Given the description of an element on the screen output the (x, y) to click on. 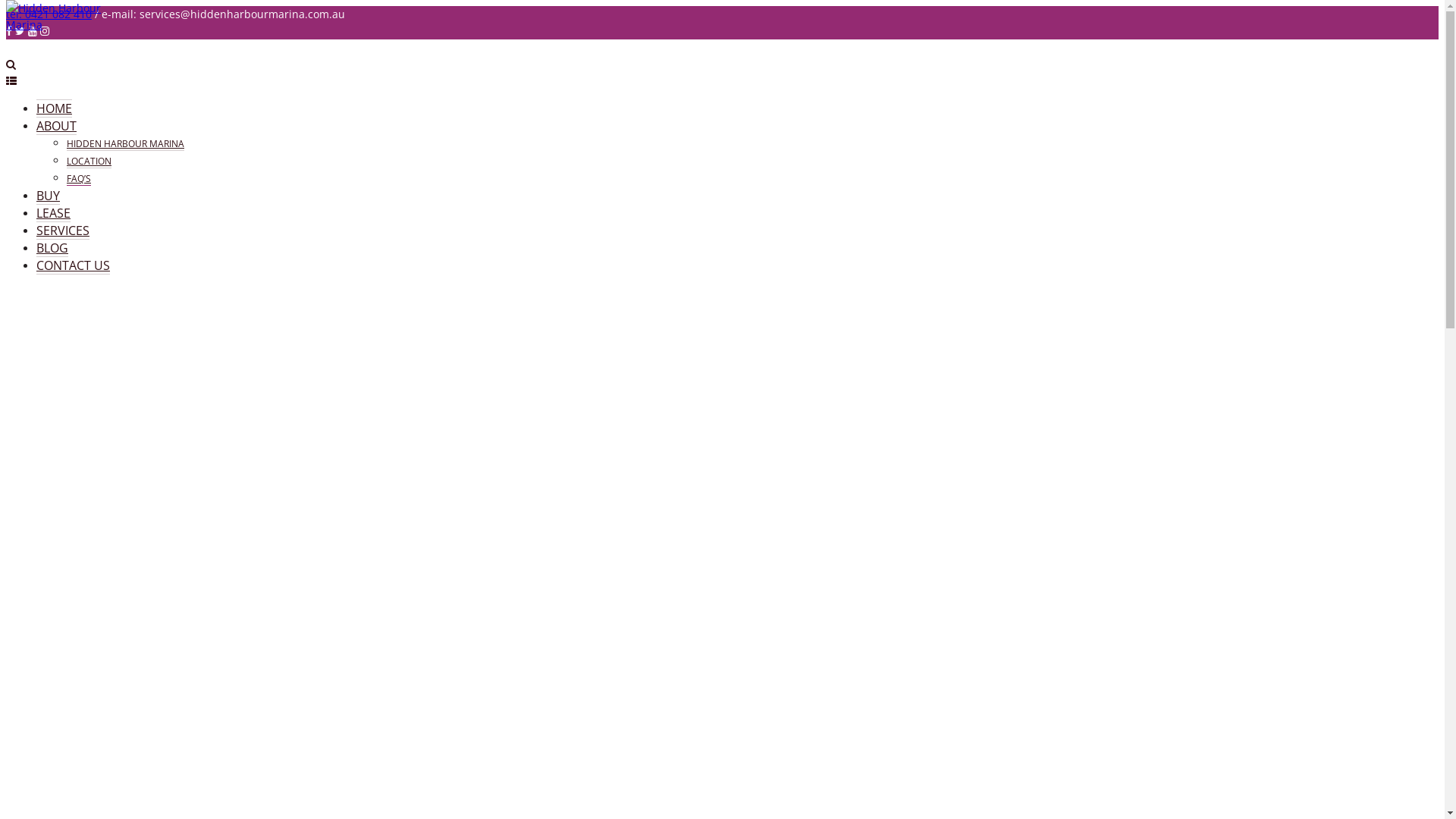
LEASE Element type: text (53, 213)
HOME Element type: text (54, 108)
youtube Element type: hover (32, 30)
Hidden Harbour Marina Element type: hover (62, 24)
ABOUT Element type: text (56, 125)
instagram Element type: hover (44, 30)
CONTACT US Element type: text (72, 265)
tel: 0421 082 410 Element type: text (48, 13)
SERVICES Element type: text (62, 230)
BUY Element type: text (47, 195)
twitter Element type: hover (20, 30)
BLOG Element type: text (52, 248)
HIDDEN HARBOUR MARINA Element type: text (125, 143)
facebook Element type: hover (9, 30)
LOCATION Element type: text (88, 161)
